Given the description of an element on the screen output the (x, y) to click on. 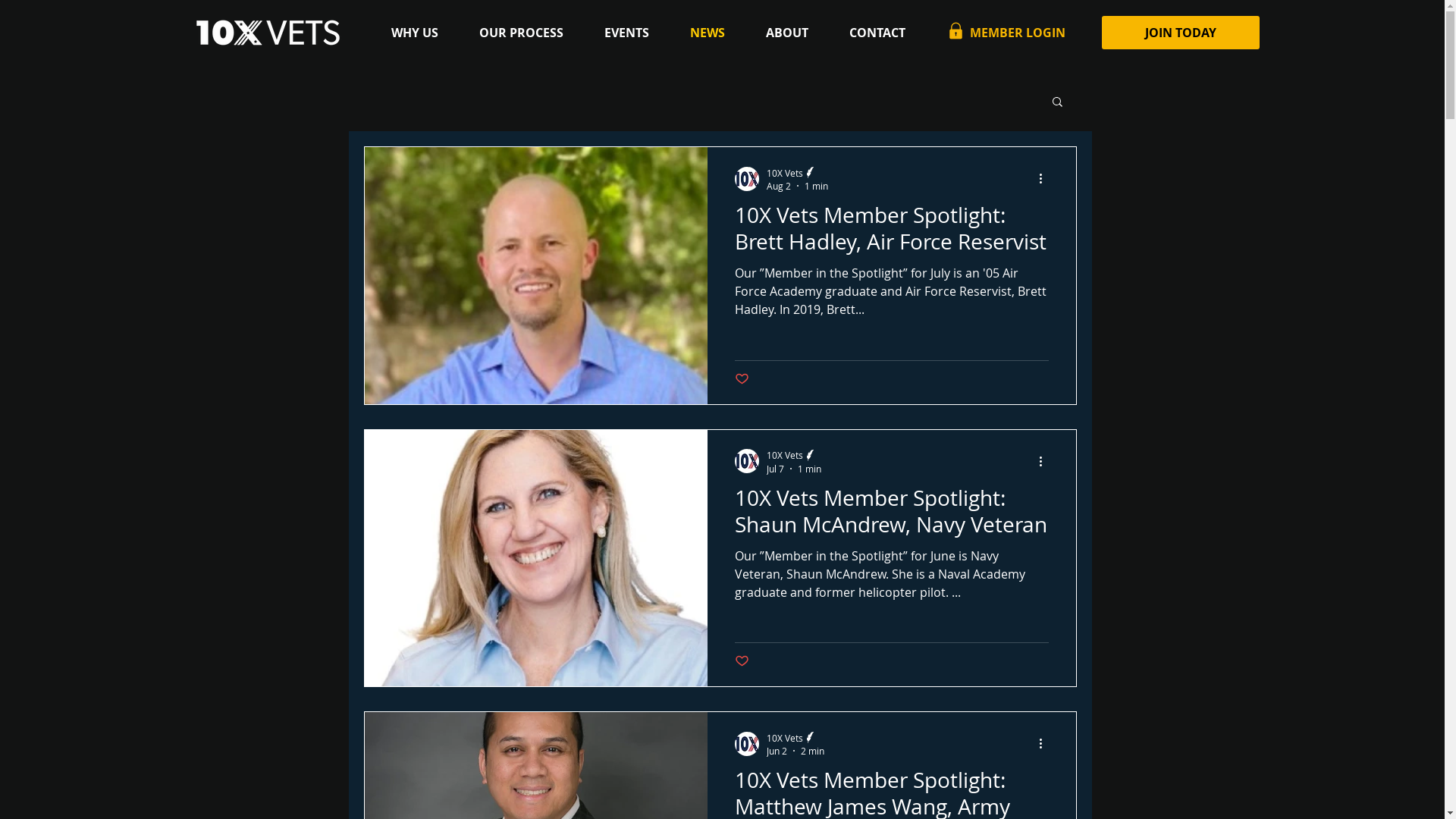
CONTACT Element type: text (885, 32)
EVENTS Element type: text (635, 32)
NEWS Element type: text (715, 32)
Post not marked as liked Element type: text (741, 378)
10X Vets Element type: text (796, 172)
10X Vets Element type: text (792, 454)
10X Vets Member Spotlight: Shaun McAndrew, Navy Veteran Element type: text (891, 514)
10X Vets Member Spotlight: Brett Hadley, Air Force Reservist Element type: text (891, 231)
JOIN TODAY Element type: text (1179, 32)
OUR PROCESS Element type: text (529, 32)
MEMBER LOGIN Element type: text (1013, 32)
ABOUT Element type: text (795, 32)
Post not marked as liked Element type: text (741, 660)
10X Vets Element type: text (794, 737)
